Given the description of an element on the screen output the (x, y) to click on. 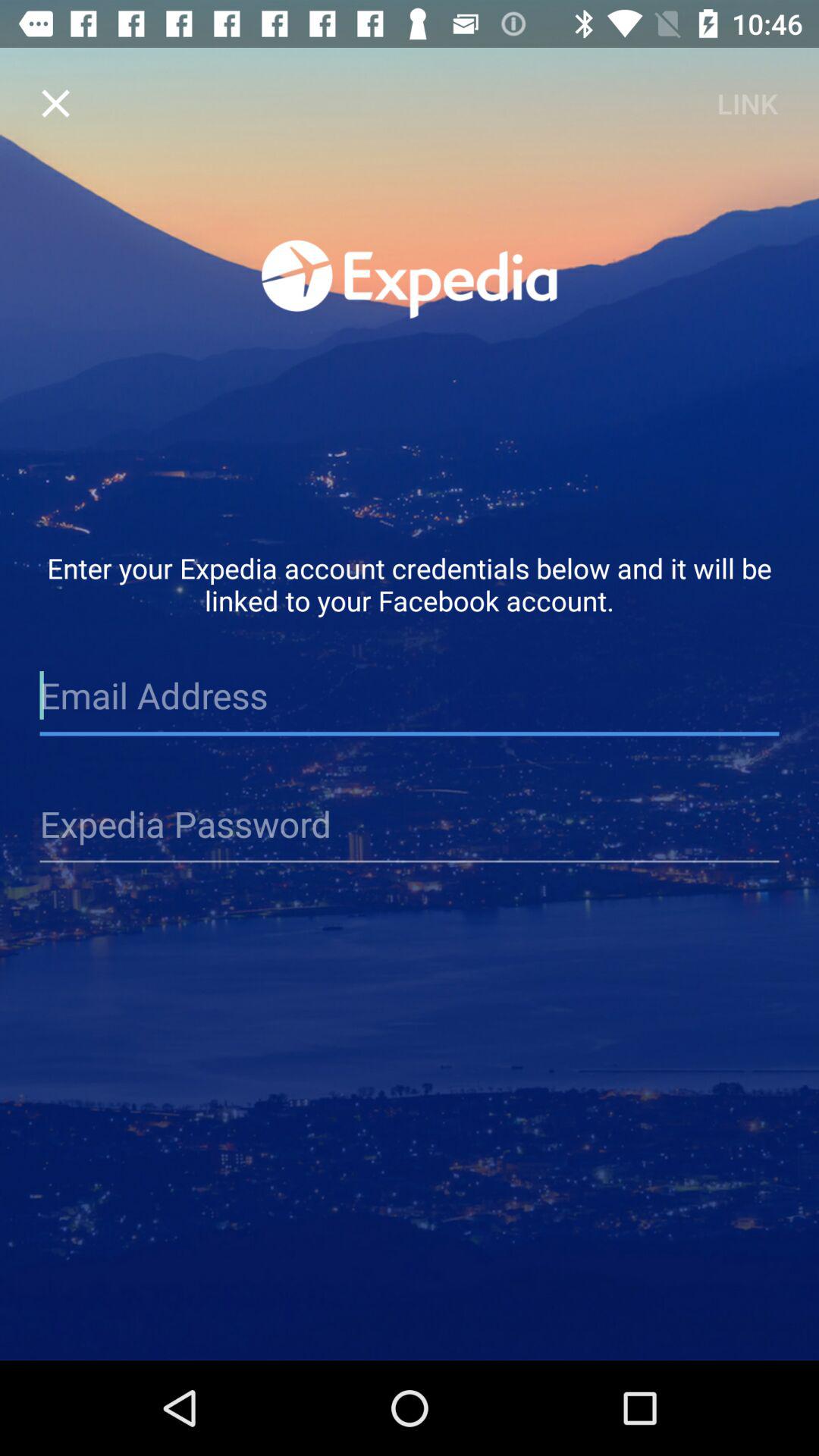
turn on icon at the top left corner (55, 103)
